Given the description of an element on the screen output the (x, y) to click on. 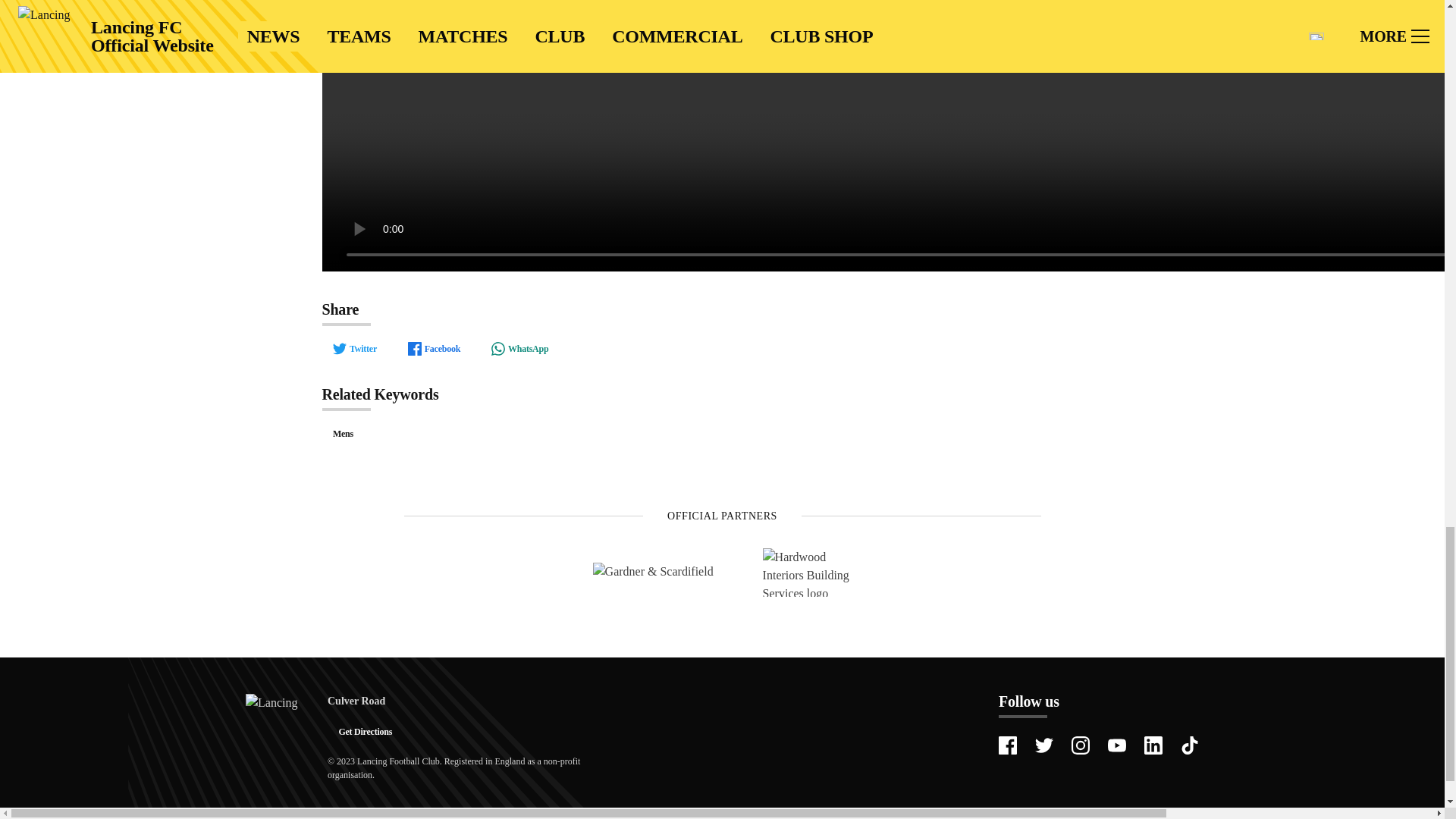
Get Directions (365, 731)
Find us on LinkedIn (1152, 745)
Facebook (433, 348)
Find us on Twitter (1043, 745)
Find us on YouTube (1116, 745)
Twitter (354, 348)
Find us on TikTok (1189, 745)
Find us on Facebook (1007, 745)
Find us on Instagram (1080, 745)
Mens (342, 433)
